Given the description of an element on the screen output the (x, y) to click on. 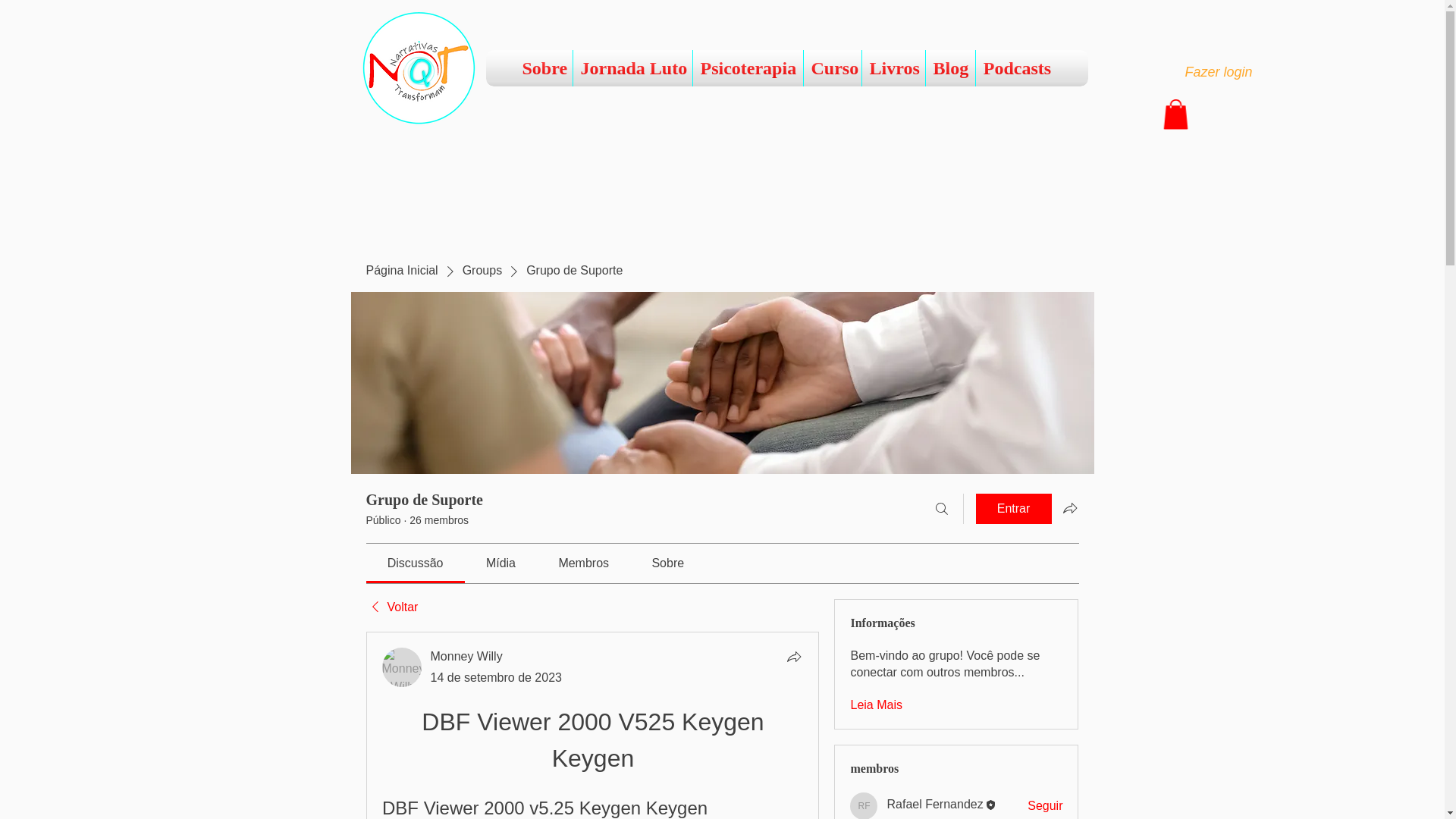
Sobre (542, 67)
Curso (832, 67)
Voltar (391, 606)
Podcasts (1016, 67)
Leia Mais (875, 704)
Livros (892, 67)
Rafael Fernandez (934, 804)
Blog (949, 67)
Entrar (1013, 508)
Rafael Fernandez (934, 804)
